Given the description of an element on the screen output the (x, y) to click on. 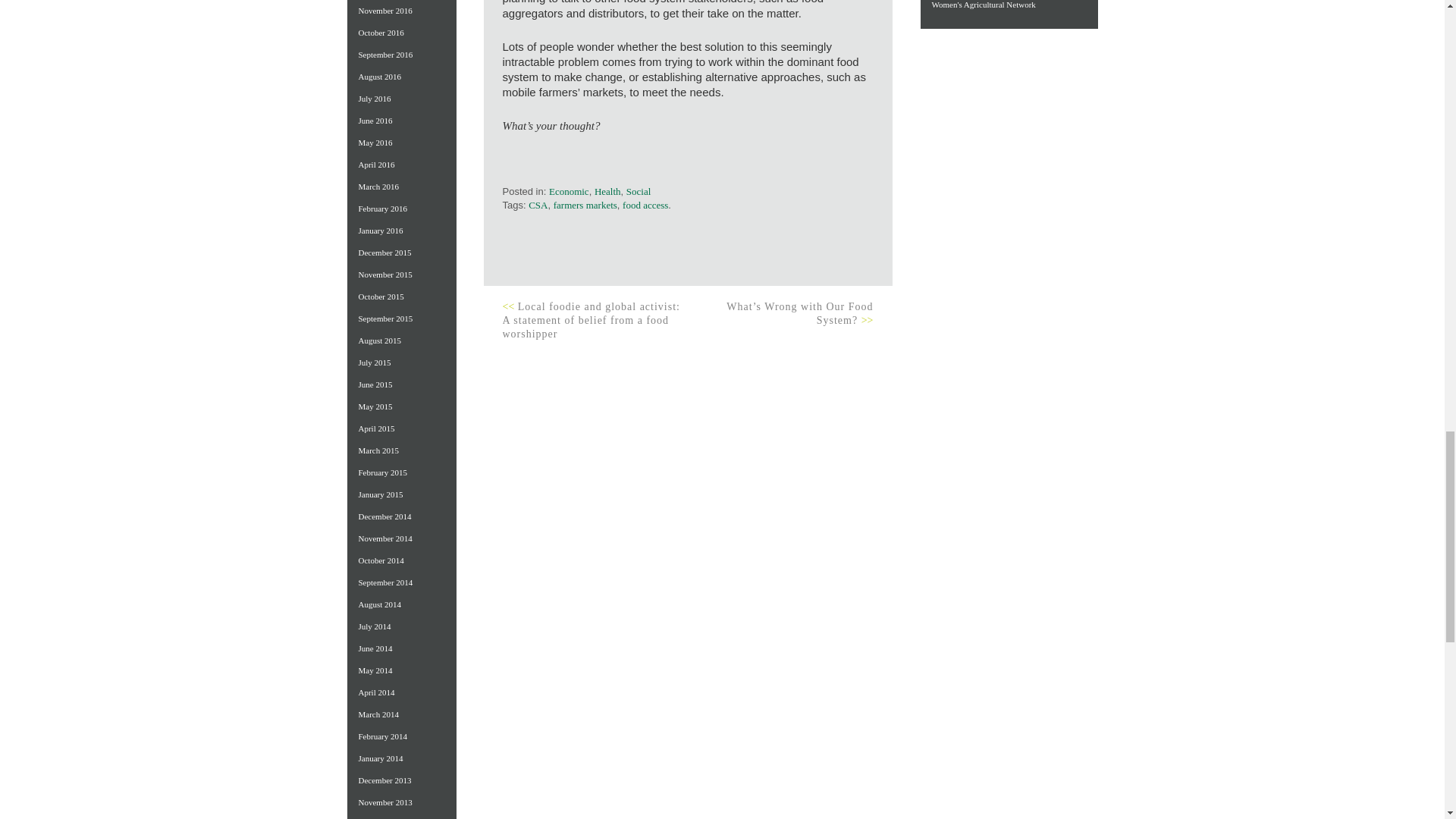
Social (638, 191)
Health (607, 191)
CSA (537, 204)
food access (645, 204)
Economic (568, 191)
farmers markets (585, 204)
